Given the description of an element on the screen output the (x, y) to click on. 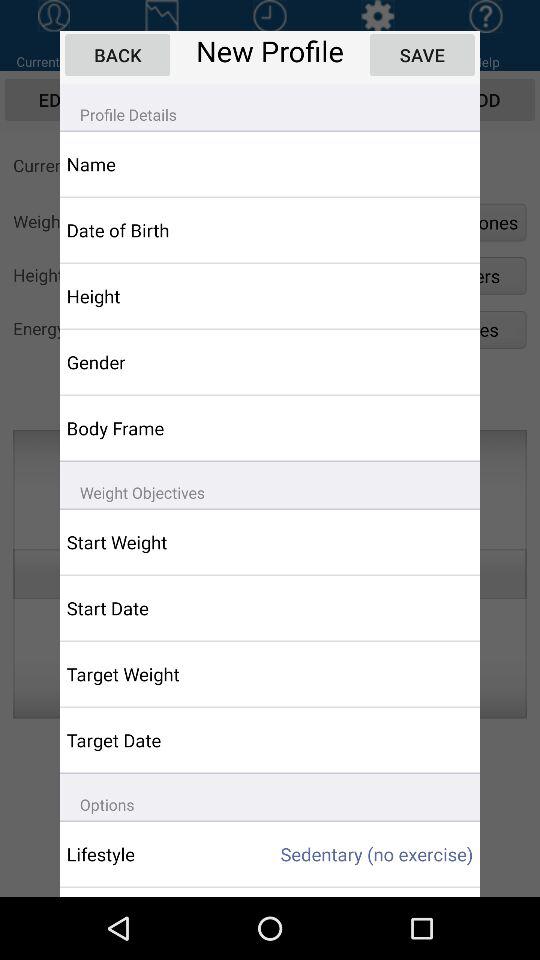
turn off the item next to the new profile (422, 54)
